Given the description of an element on the screen output the (x, y) to click on. 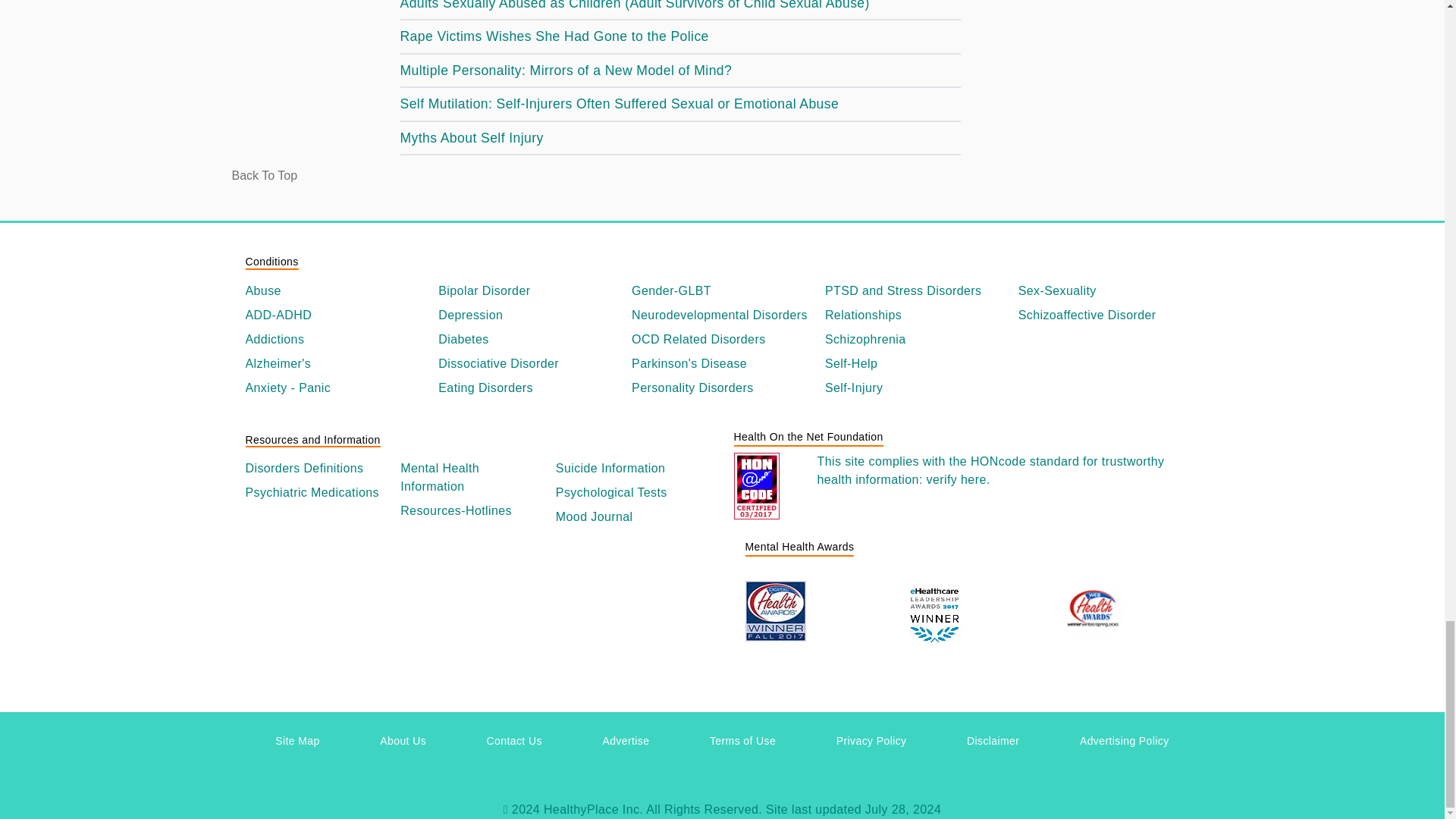
Parkinson's Disease Information Articles (721, 363)
